Given the description of an element on the screen output the (x, y) to click on. 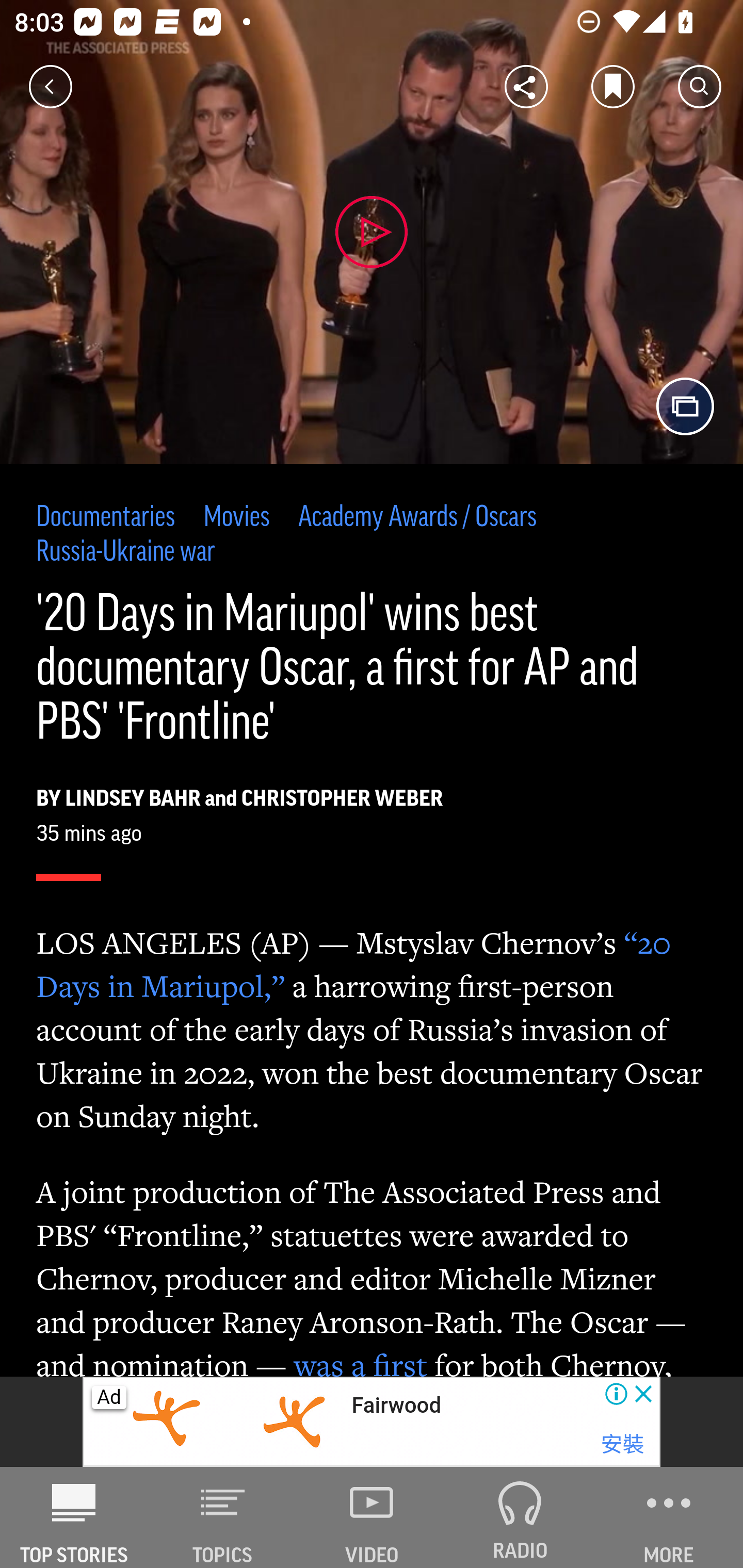
Documentaries (106, 518)
Movies (236, 518)
Academy Awards / Oscars (417, 518)
Russia-Ukraine war (126, 552)
“20 Days in Mariupol,” (353, 963)
Fairwood (395, 1405)
安裝 (621, 1444)
AP News TOP STORIES (74, 1517)
TOPICS (222, 1517)
VIDEO (371, 1517)
RADIO (519, 1517)
MORE (668, 1517)
